Given the description of an element on the screen output the (x, y) to click on. 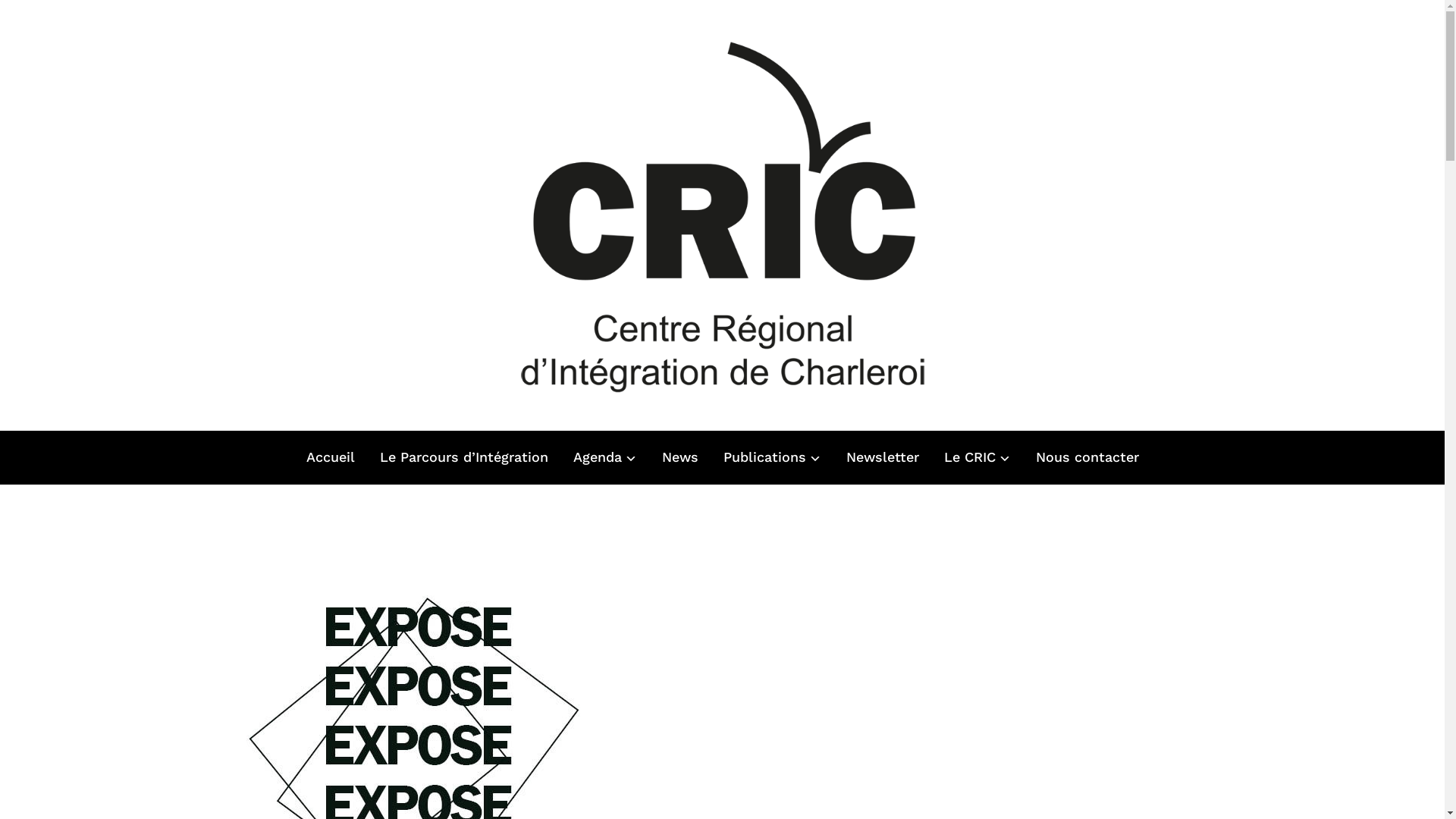
Agenda Element type: text (605, 457)
Le CRIC Element type: text (976, 457)
Newsletter Element type: text (882, 457)
Publications Element type: text (772, 457)
Accueil Element type: text (330, 457)
News Element type: text (679, 457)
Nous contacter Element type: text (1087, 457)
